Given the description of an element on the screen output the (x, y) to click on. 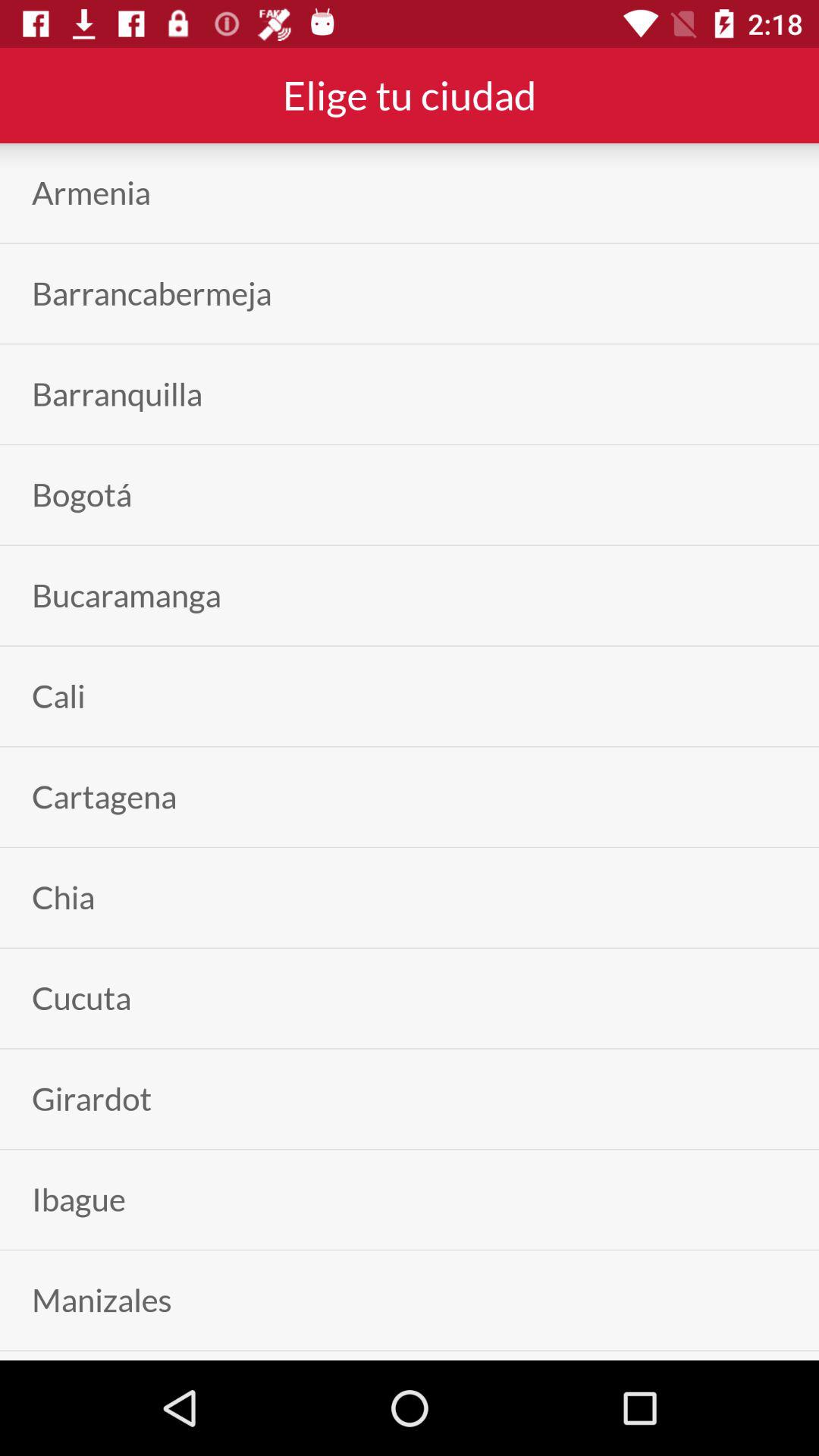
select the cucuta (81, 998)
